Given the description of an element on the screen output the (x, y) to click on. 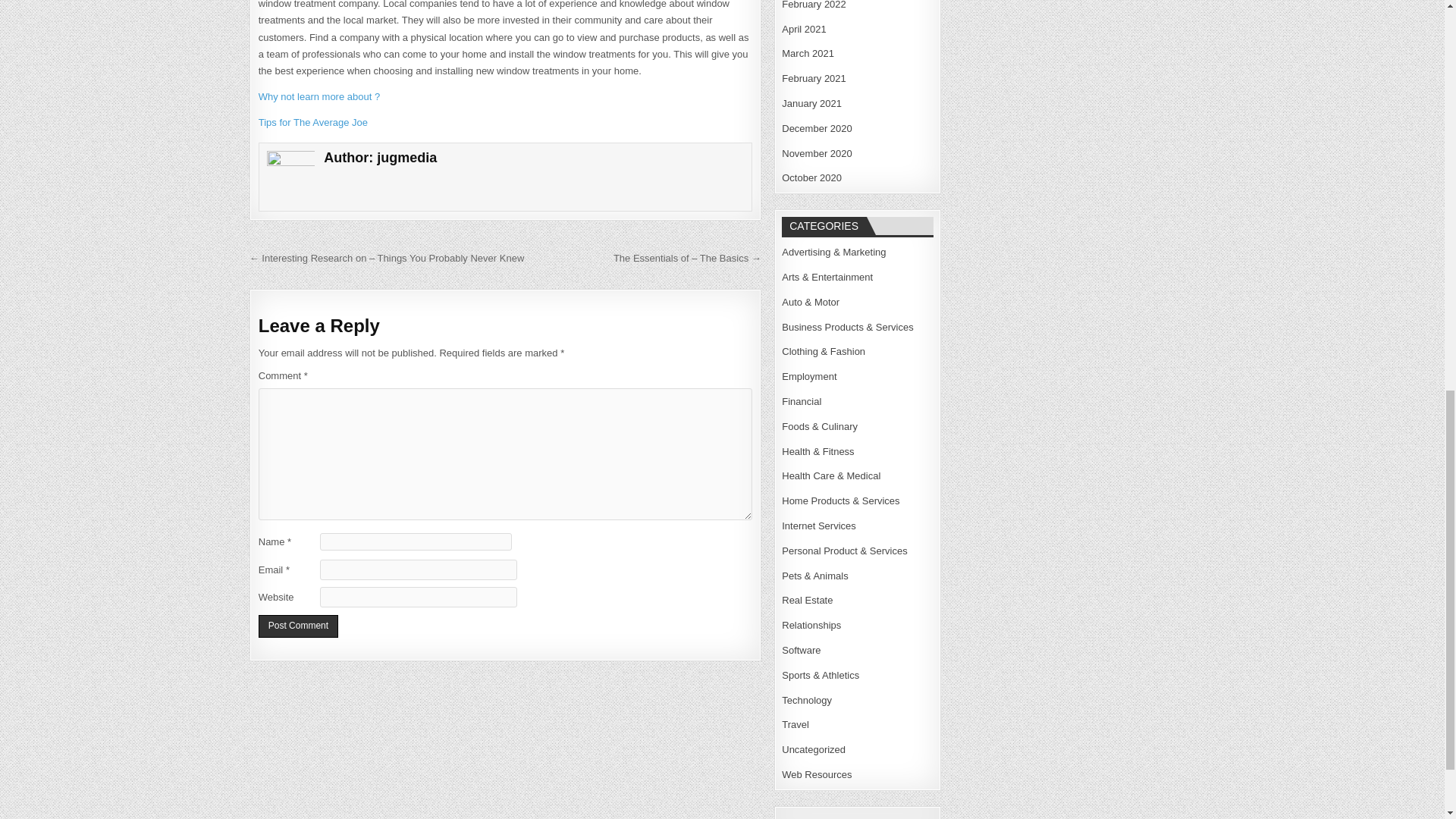
Tips for The Average Joe (313, 122)
Post Comment (298, 626)
Post Comment (298, 626)
Why not learn more about ? (319, 96)
